Given the description of an element on the screen output the (x, y) to click on. 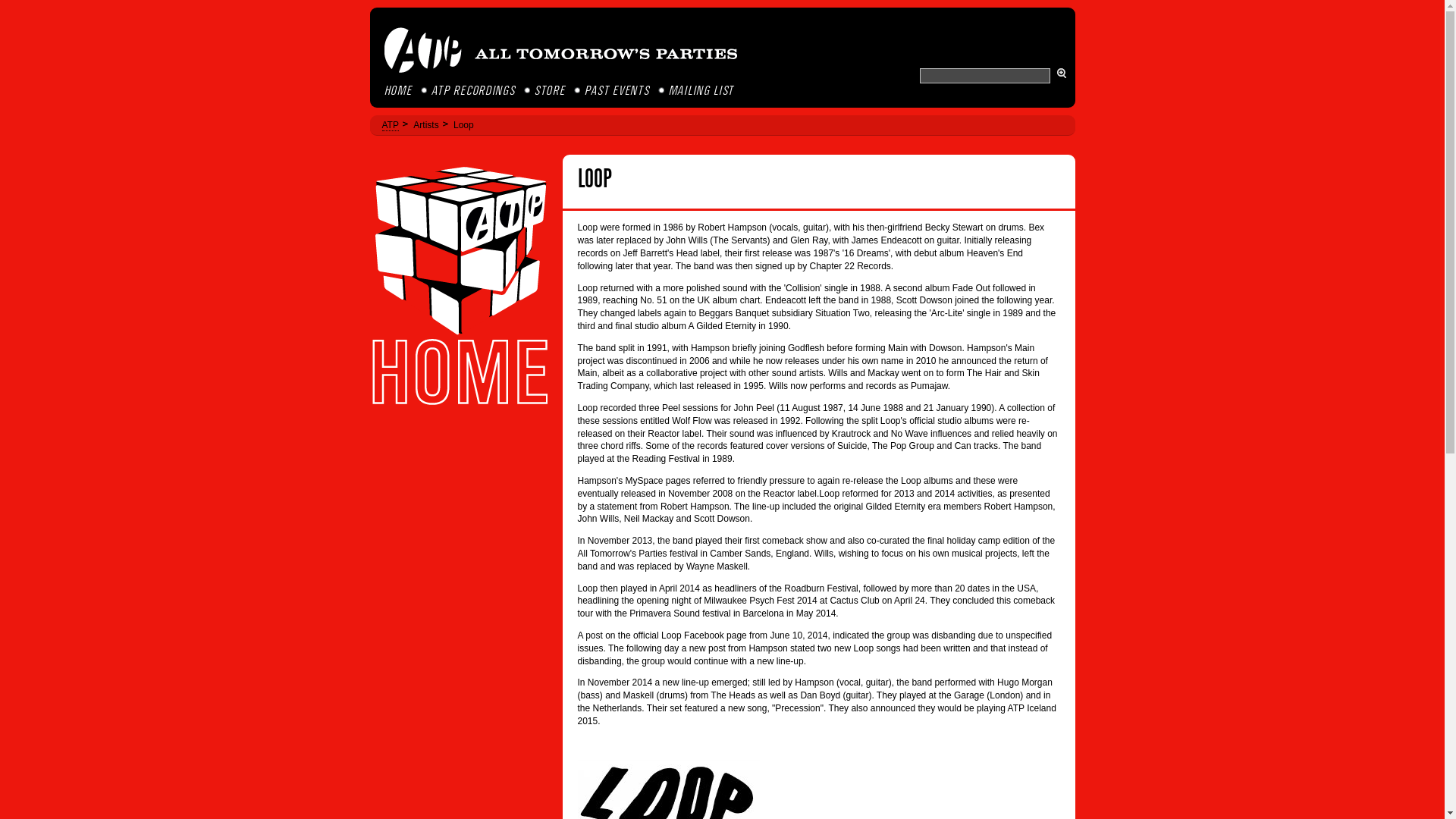
ATP All Tomorrow's Parties (561, 49)
MAILING LIST (702, 91)
HOME (399, 91)
Search (1061, 72)
ATP RECORDINGS (474, 91)
STORE (550, 91)
PAST EVENTS (617, 91)
ATP (389, 125)
